Given the description of an element on the screen output the (x, y) to click on. 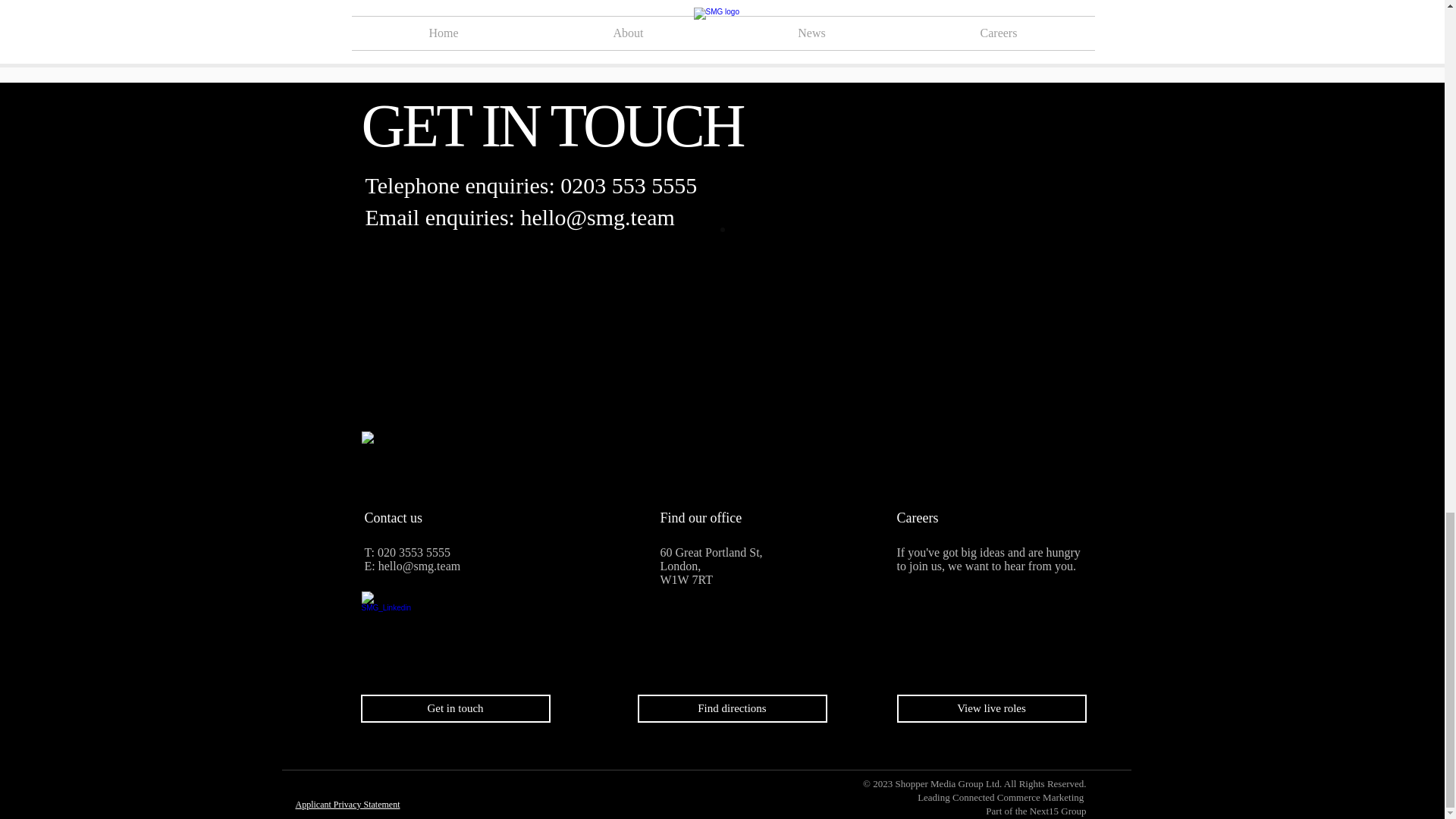
View live roles (991, 708)
Applicant Privacy Statement (347, 804)
Part of the Next15 Group (1035, 810)
Find directions (732, 708)
Get in touch (455, 708)
